Given the description of an element on the screen output the (x, y) to click on. 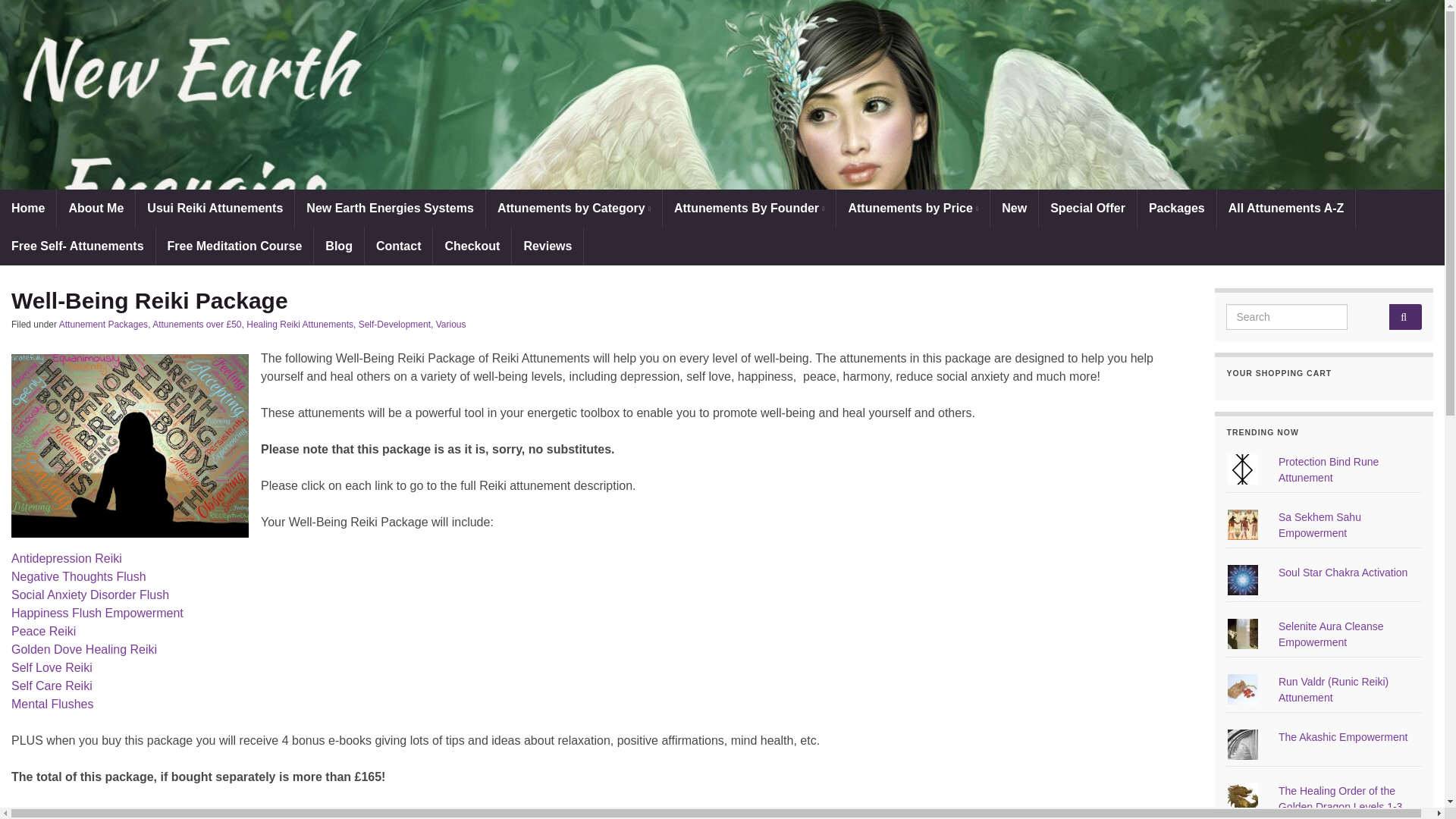
About Me (95, 208)
Usui Reiki Attunements (214, 208)
Soul Star Chakra Activation (1342, 572)
Sa Sekhem Sahu Empowerment (1319, 524)
Attunements by Category (574, 208)
New Earth Energies Systems (389, 208)
Protection Bind Rune Attunement (1328, 469)
Home (28, 208)
